Given the description of an element on the screen output the (x, y) to click on. 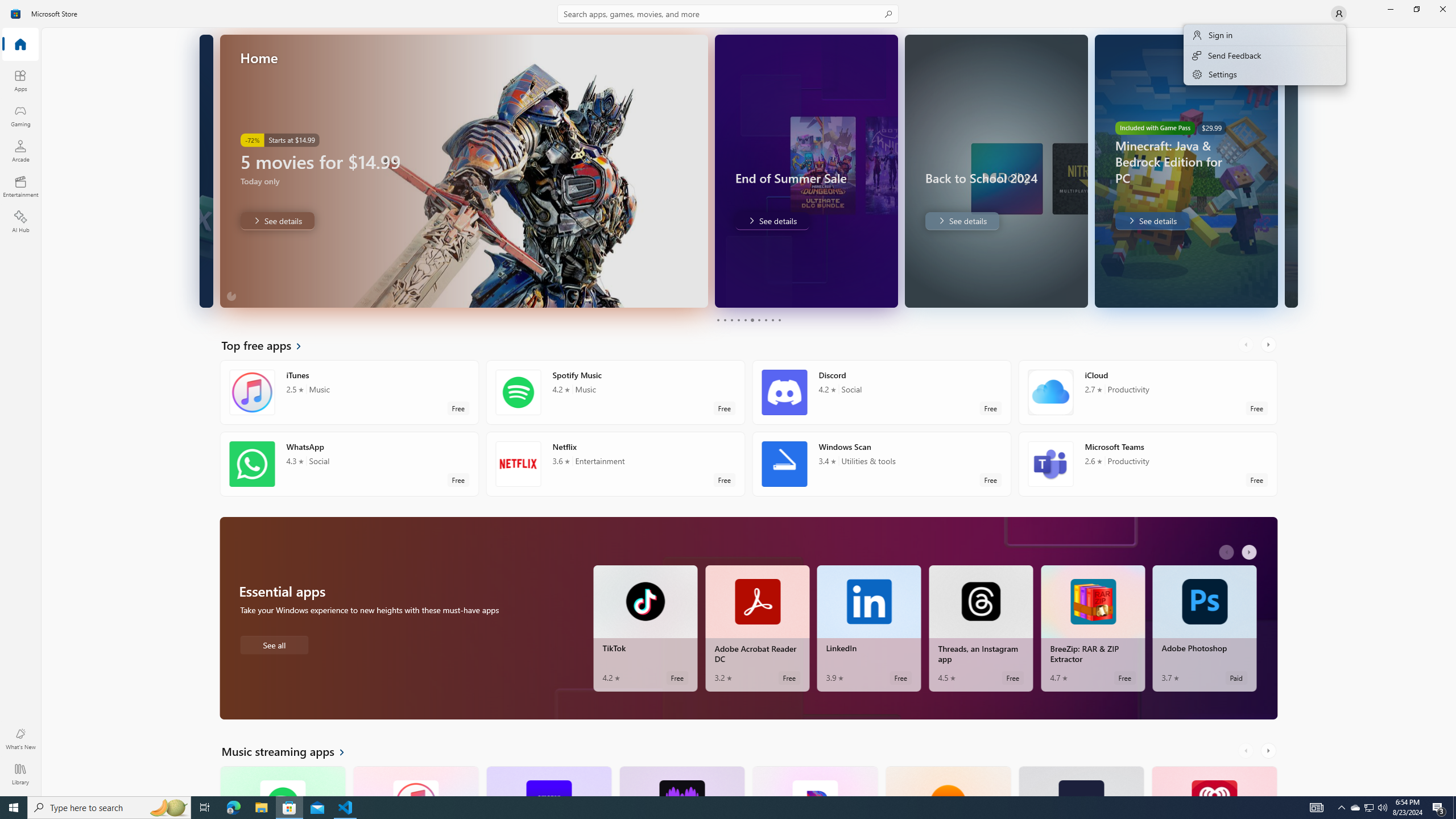
Page 6 (751, 319)
Page 4 (738, 319)
AutomationID: LeftScrollButton (1246, 750)
Discord. Average rating of 4.2 out of five stars. Free   (881, 392)
AutomationID: Image (1290, 170)
